Given the description of an element on the screen output the (x, y) to click on. 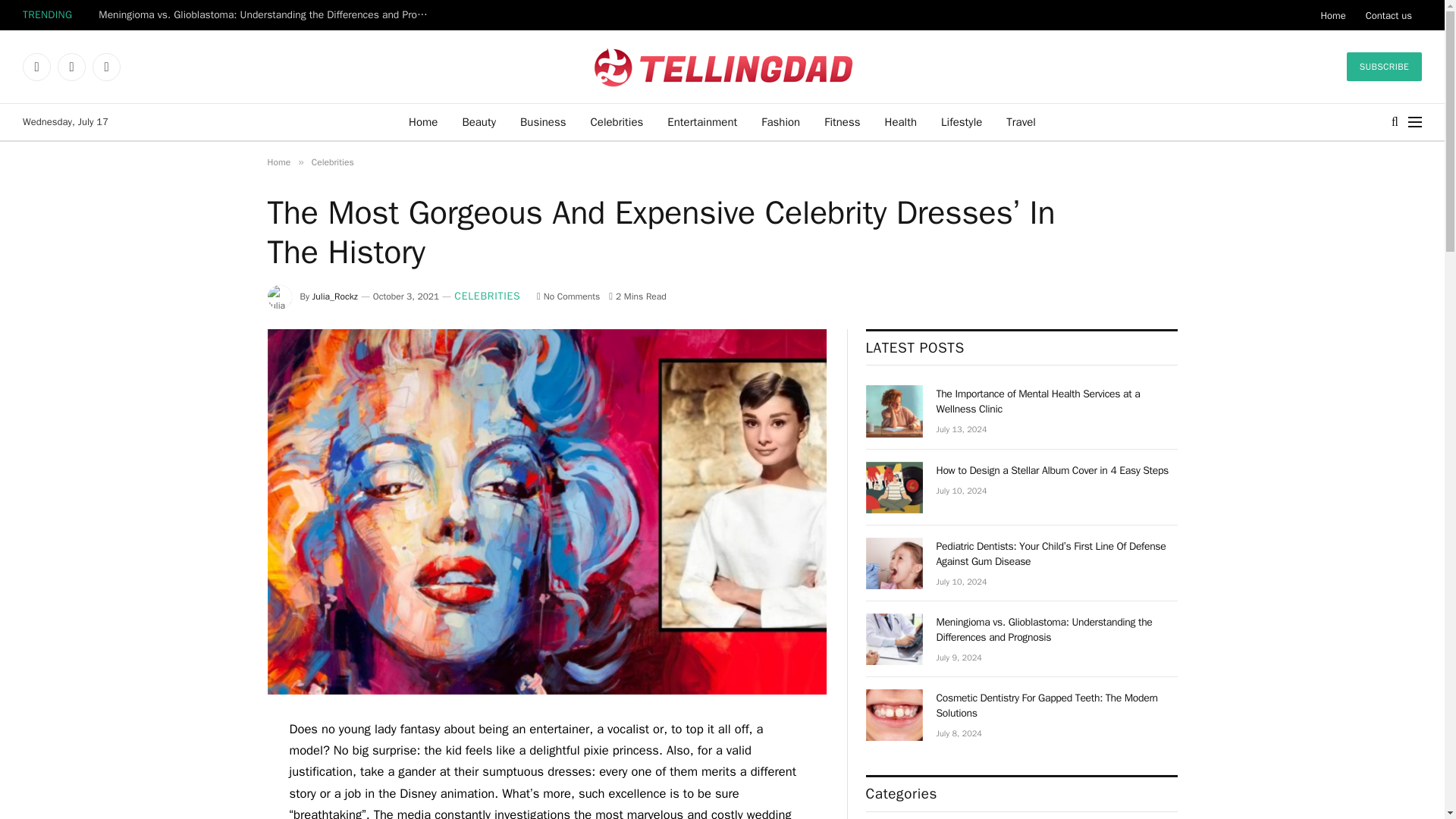
Fashion (780, 122)
No Comments (568, 296)
Celebrities (332, 162)
Home (277, 162)
Home (422, 122)
Entertainment (702, 122)
Tellingdad.com (722, 66)
Business (543, 122)
Fitness (842, 122)
Health (901, 122)
SUBSCRIBE (1384, 66)
Contact us (1388, 15)
Beauty (478, 122)
Home (1332, 15)
